Given the description of an element on the screen output the (x, y) to click on. 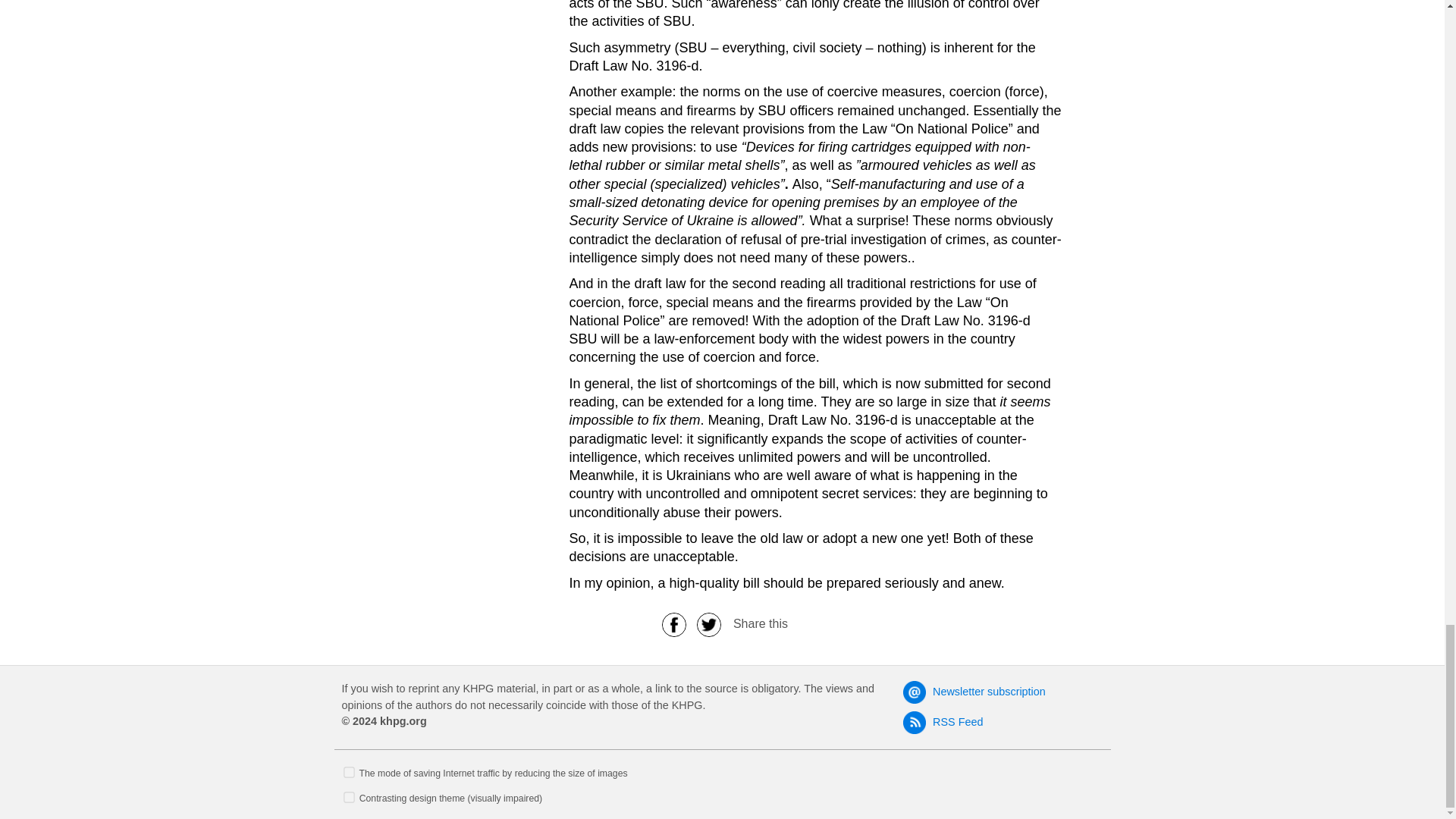
1 (348, 796)
Twitter (708, 623)
1 (348, 771)
Facebook (673, 623)
